Given the description of an element on the screen output the (x, y) to click on. 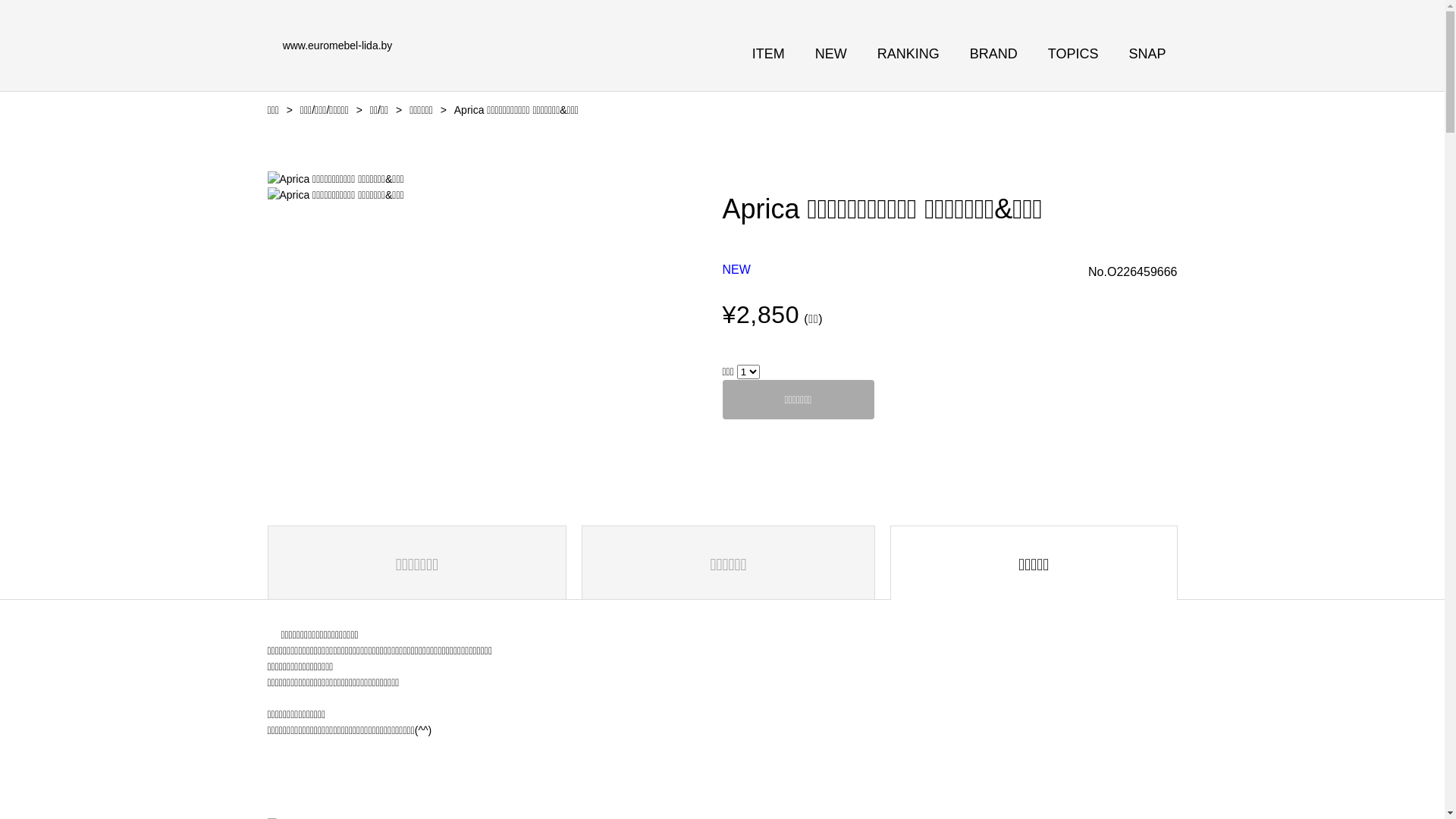
SNAP Element type: text (1146, 52)
ITEM Element type: text (768, 52)
RANKING Element type: text (908, 52)
TOPICS Element type: text (1073, 52)
NEW Element type: text (831, 52)
BRAND Element type: text (993, 52)
